Given the description of an element on the screen output the (x, y) to click on. 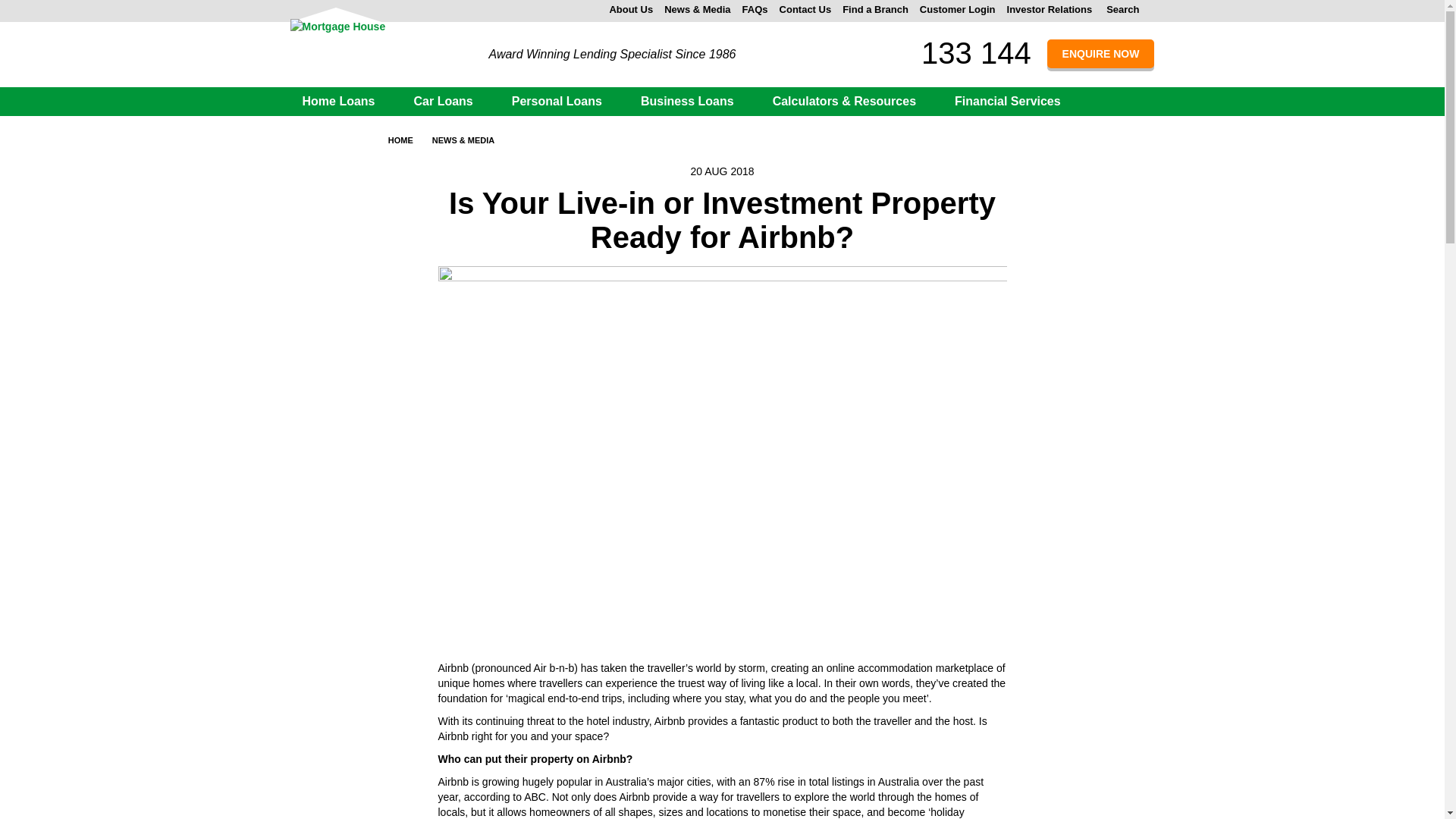
Find a Branch (875, 9)
ENQUIRE NOW (1100, 53)
Customer Login (957, 9)
FAQs (755, 9)
Home Loans (344, 101)
About Us (630, 9)
Investor Relations (1050, 9)
Contact Us (804, 9)
